Given the description of an element on the screen output the (x, y) to click on. 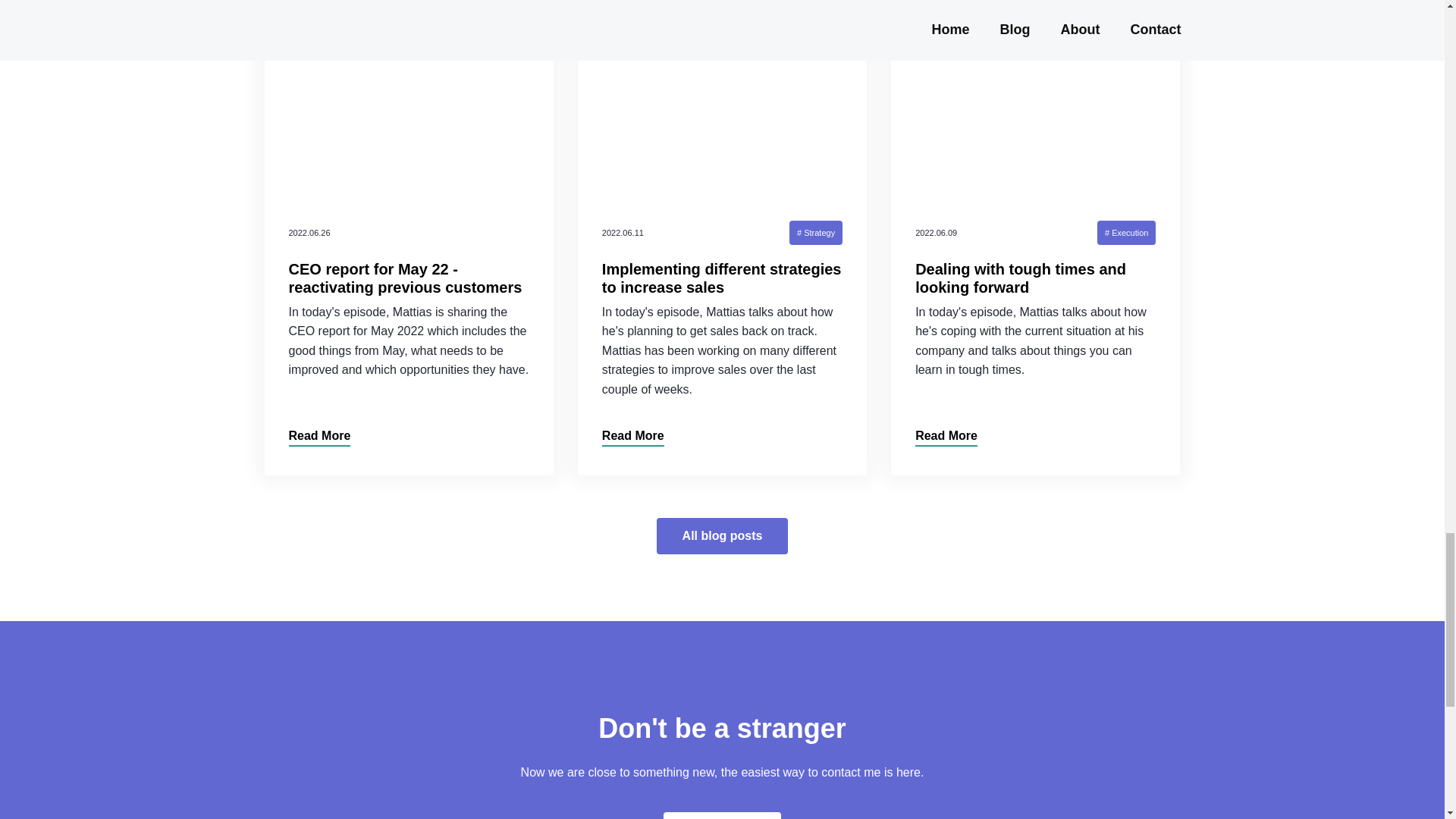
Read More (945, 437)
Read More (319, 437)
CEO report for May 22 - reactivating previous customers (404, 278)
Dealing with tough times and looking forward (1020, 278)
Implementing different strategies to increase sales (721, 278)
Read More (632, 437)
